Given the description of an element on the screen output the (x, y) to click on. 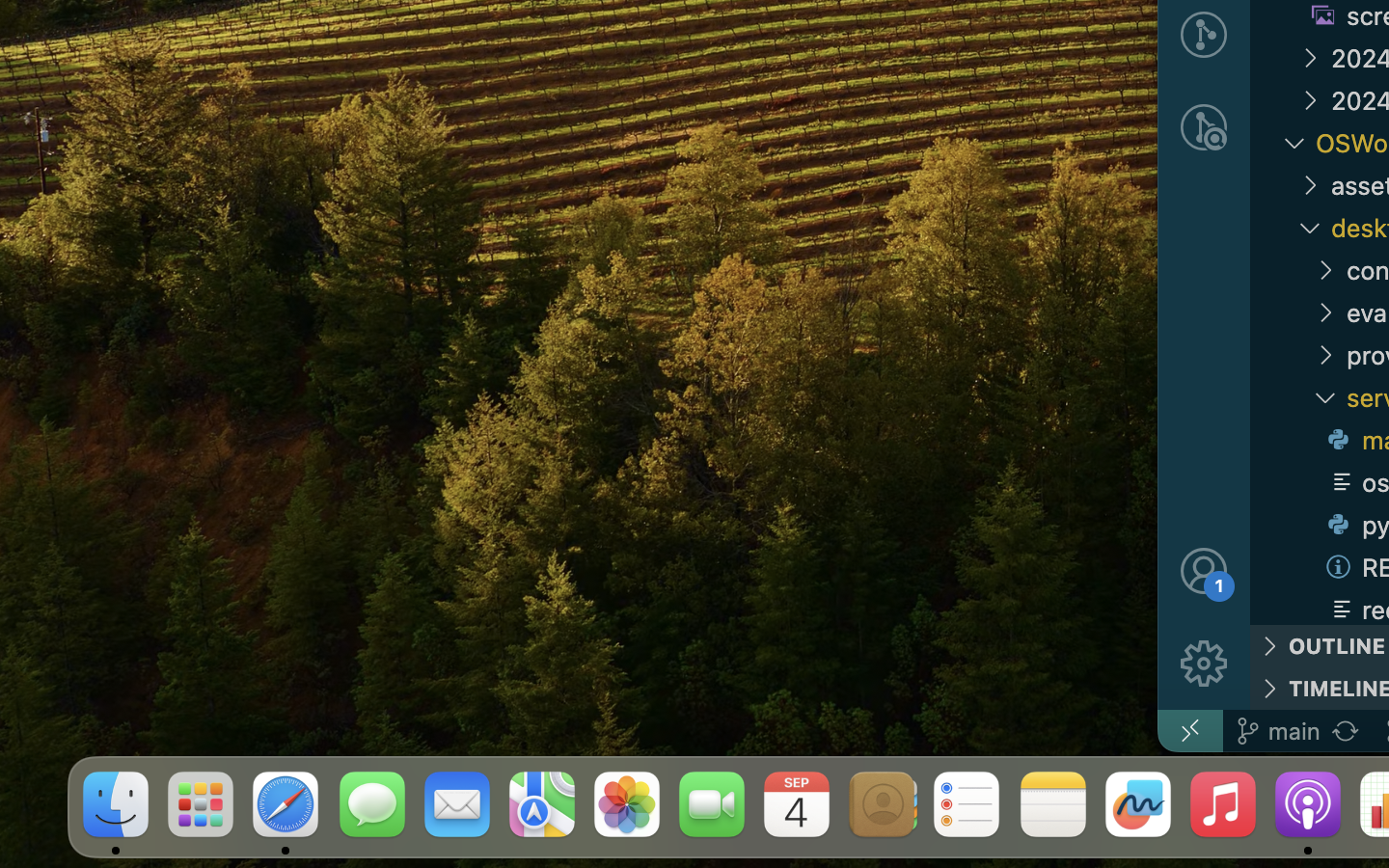
0  Element type: AXRadioButton (1203, 127)
 Element type: AXStaticText (1203, 663)
main  Element type: AXButton (1277, 730)
 Element type: AXStaticText (1324, 269)
 Element type: AXStaticText (1203, 570)
